Given the description of an element on the screen output the (x, y) to click on. 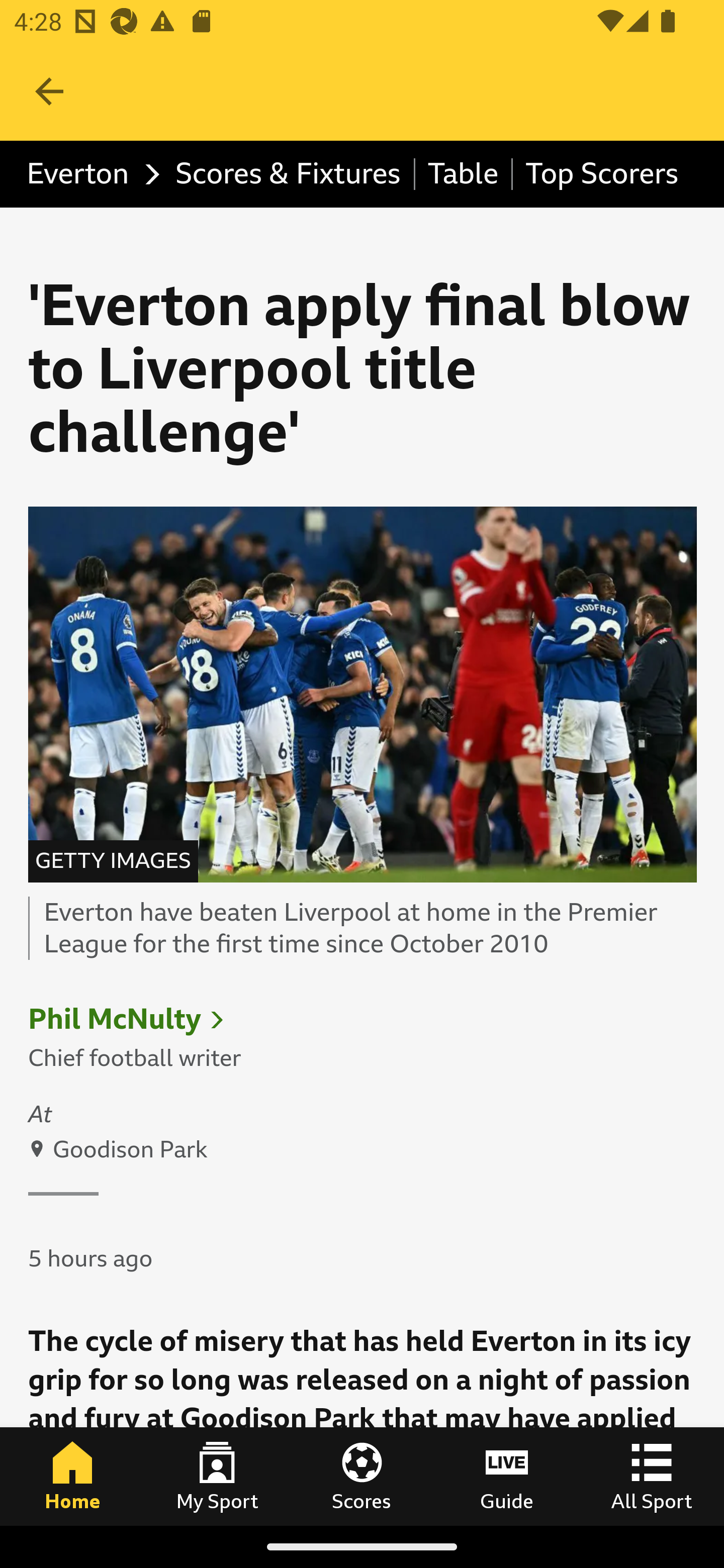
Navigate up (49, 91)
Everton (88, 173)
Scores & Fixtures (289, 173)
Table (463, 173)
Top Scorers (601, 173)
Phil McNulty (114, 1019)
My Sport (216, 1475)
Scores (361, 1475)
Guide (506, 1475)
All Sport (651, 1475)
